Given the description of an element on the screen output the (x, y) to click on. 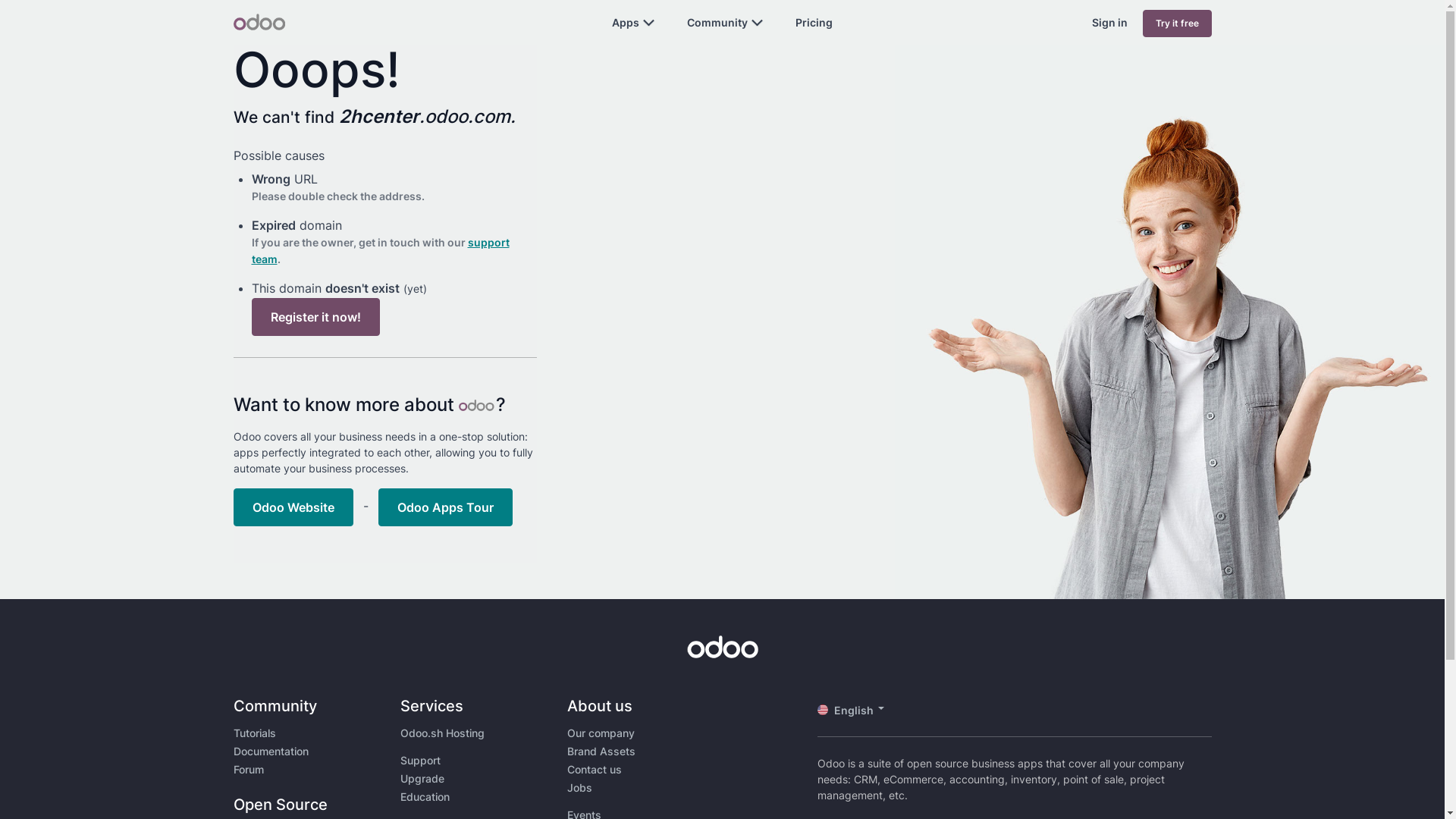
Sign in Element type: text (1109, 22)
Community Element type: text (716, 21)
Brand Assets Element type: text (601, 750)
Odoo.sh Hosting Element type: text (442, 732)
Contact us Element type: text (594, 768)
support team Element type: text (380, 250)
Odoo Element type: text (259, 21)
Our company Element type: text (600, 732)
Forum Element type: text (248, 768)
Support Element type: text (420, 759)
Jobs Element type: text (579, 787)
English Element type: text (857, 709)
Register it now! Element type: text (315, 316)
Try it free Element type: text (1176, 23)
Upgrade Element type: text (422, 777)
Odoo Apps Tour Element type: text (444, 507)
Education Element type: text (424, 796)
Pricing Element type: text (813, 21)
Tutorials Element type: text (254, 732)
Odoo Website Element type: text (293, 507)
Apps Element type: text (625, 21)
Documentation Element type: text (270, 750)
